Given the description of an element on the screen output the (x, y) to click on. 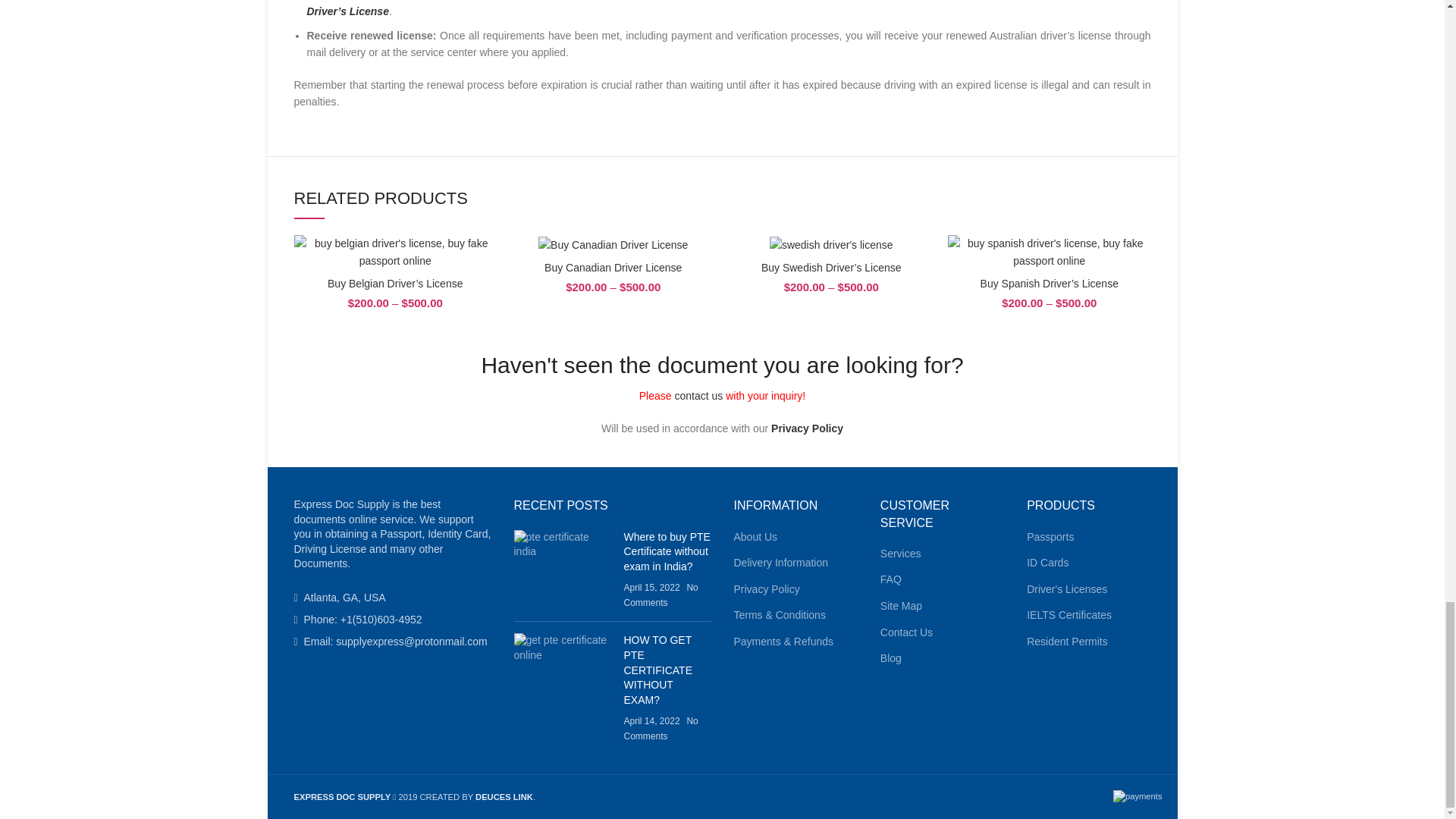
pte-certificate-india (562, 544)
Permalink to HOW TO GET PTE CERTIFICATE WITHOUT EXAM? (658, 669)
pte-certificate (562, 647)
